Given the description of an element on the screen output the (x, y) to click on. 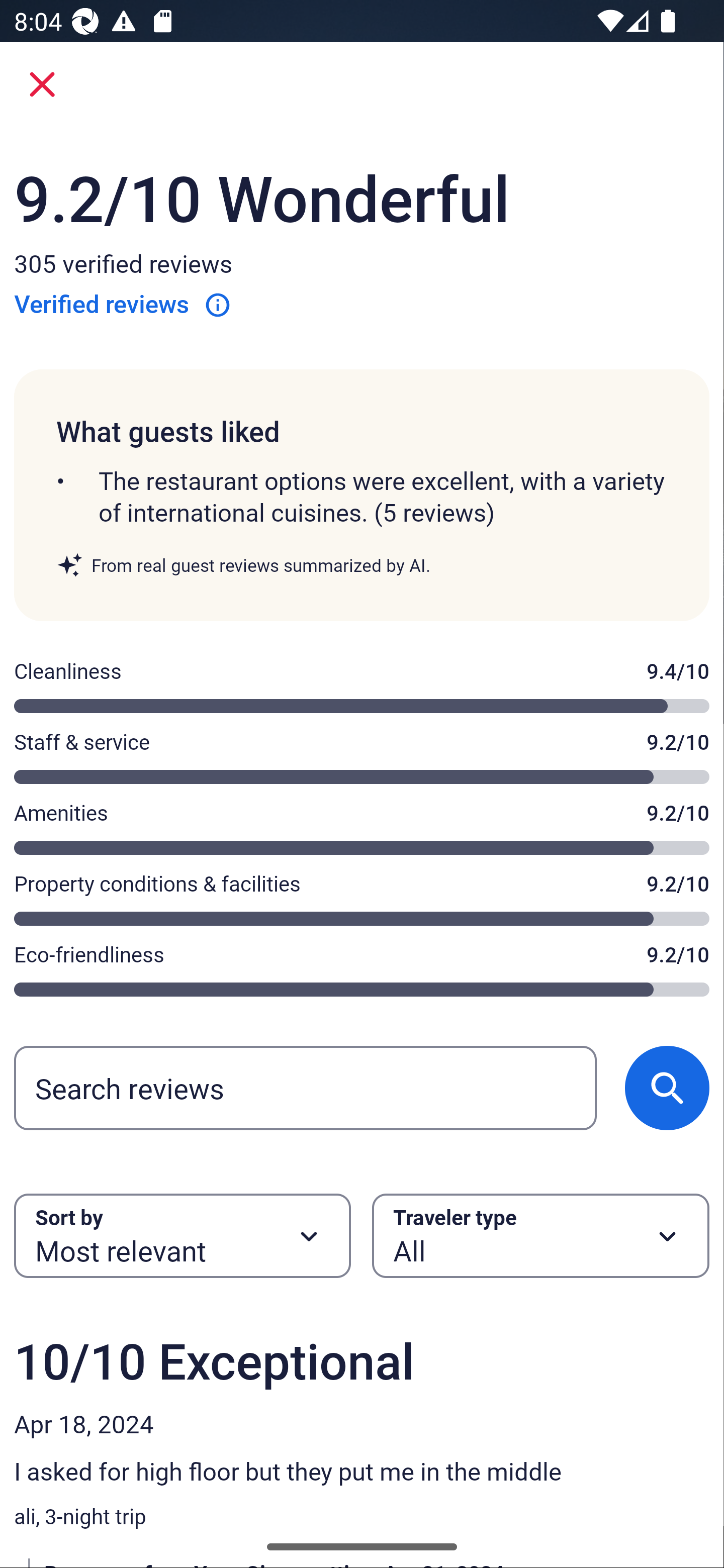
Close (42, 84)
Verified reviews (122, 303)
Search reviews (304, 1087)
Search reviews button (666, 1087)
Sort by Button Most relevant (182, 1235)
Traveler type Button All (540, 1235)
